Given the description of an element on the screen output the (x, y) to click on. 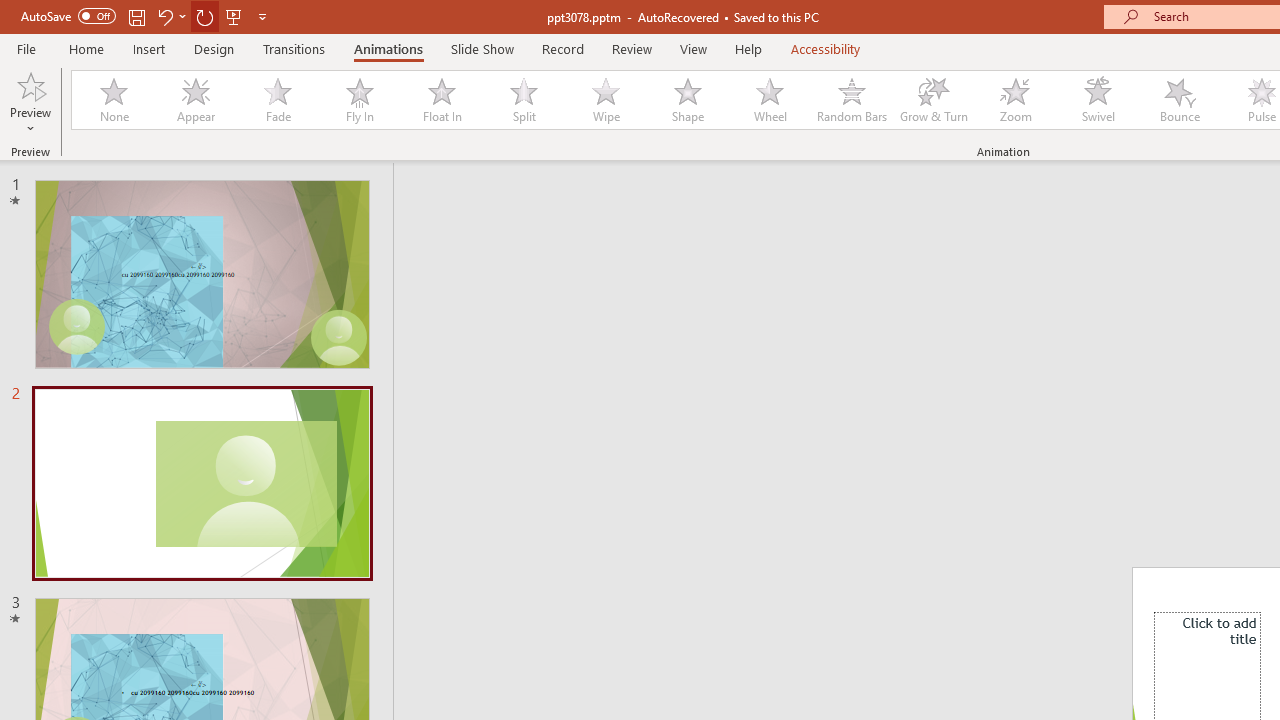
Wheel (770, 100)
